Given the description of an element on the screen output the (x, y) to click on. 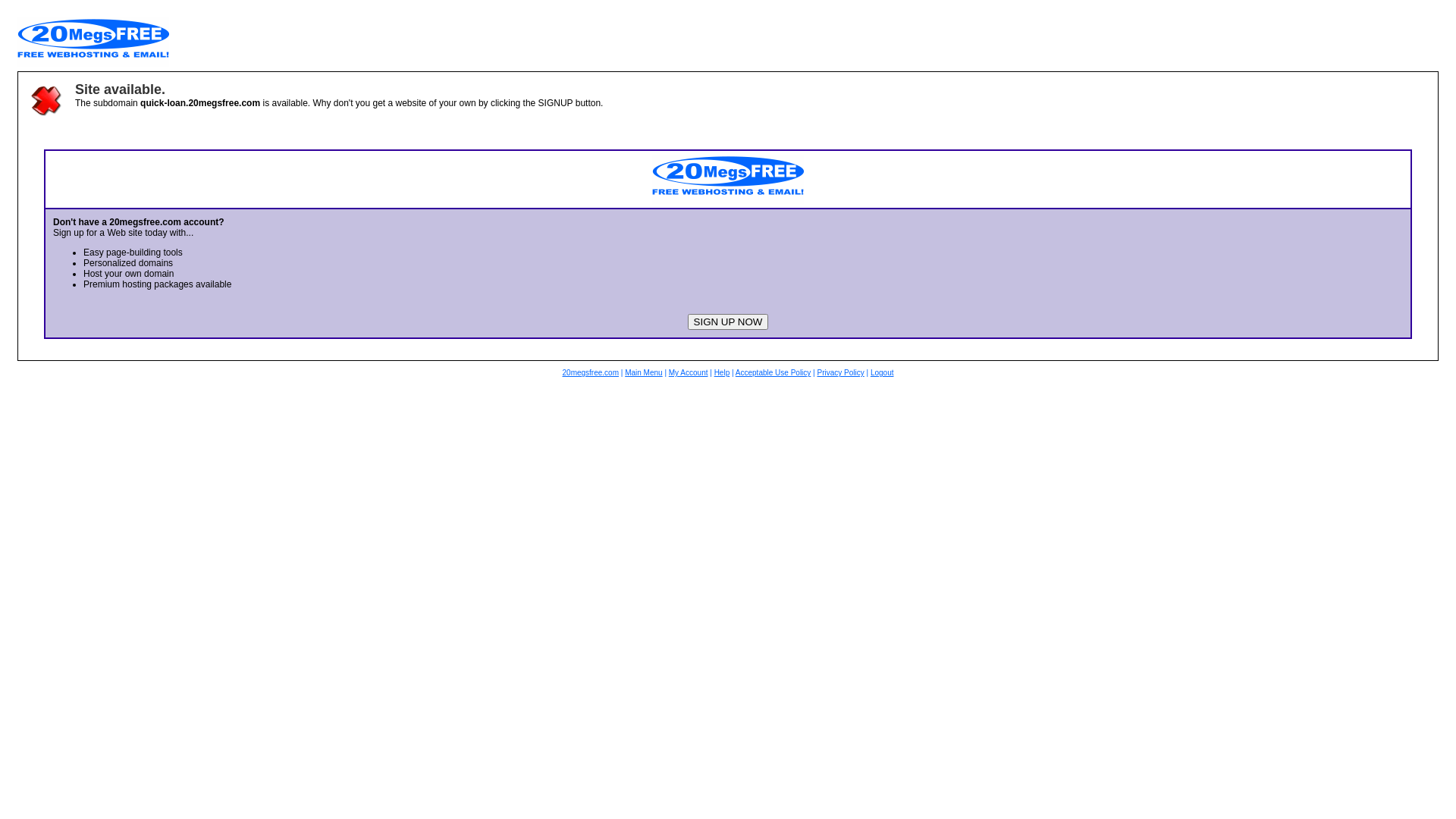
Logout Element type: text (882, 372)
Main Menu Element type: text (643, 372)
Help Element type: text (722, 372)
Acceptable Use Policy Element type: text (773, 372)
My Account Element type: text (688, 372)
SIGN UP NOW Element type: text (727, 321)
Privacy Policy Element type: text (839, 372)
20megsfree.com Element type: text (590, 372)
